Given the description of an element on the screen output the (x, y) to click on. 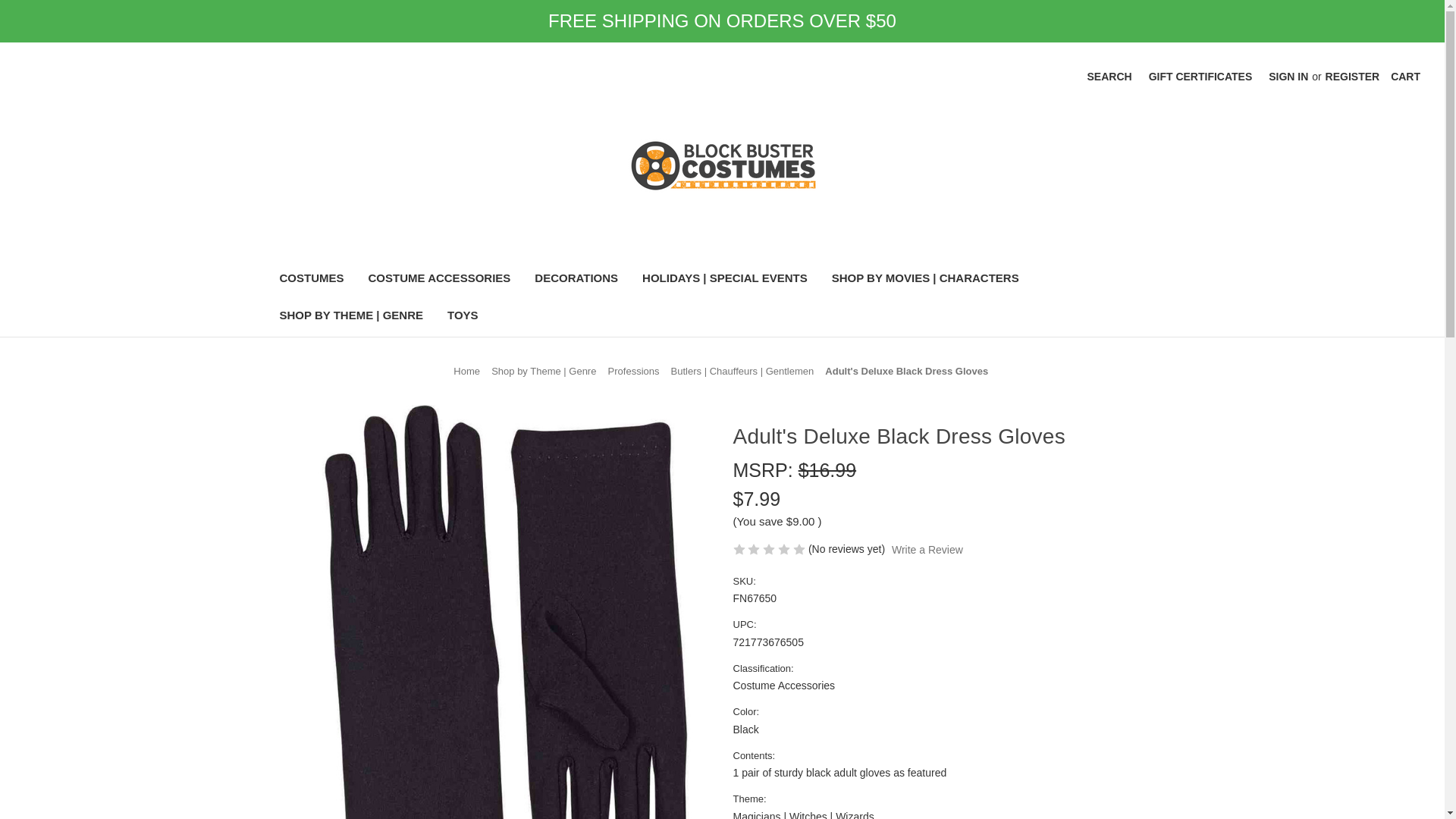
SEARCH (1109, 76)
CART (1404, 76)
Write a Review (926, 549)
DECORATIONS (576, 279)
BlockBuster Costumes (721, 165)
COSTUME ACCESSORIES (439, 279)
Adult's Deluxe Black Dress Gloves (906, 370)
TOYS (462, 316)
Home (466, 370)
